Given the description of an element on the screen output the (x, y) to click on. 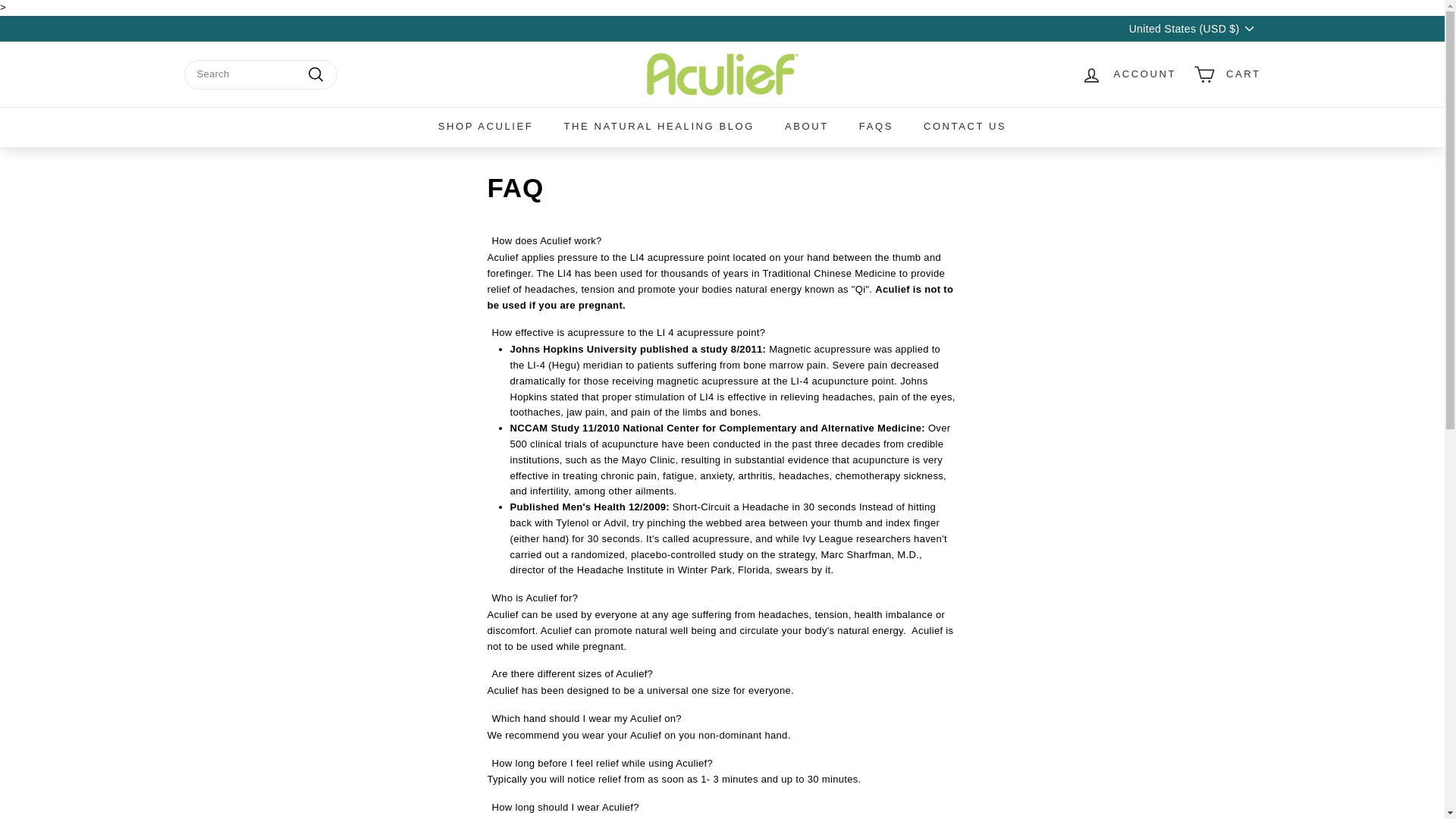
ACCOUNT (1128, 74)
CART (1227, 74)
ABOUT (807, 127)
FAQS (876, 127)
SHOP ACULIEF (485, 127)
CONTACT US (965, 127)
THE NATURAL HEALING BLOG (659, 127)
